Given the description of an element on the screen output the (x, y) to click on. 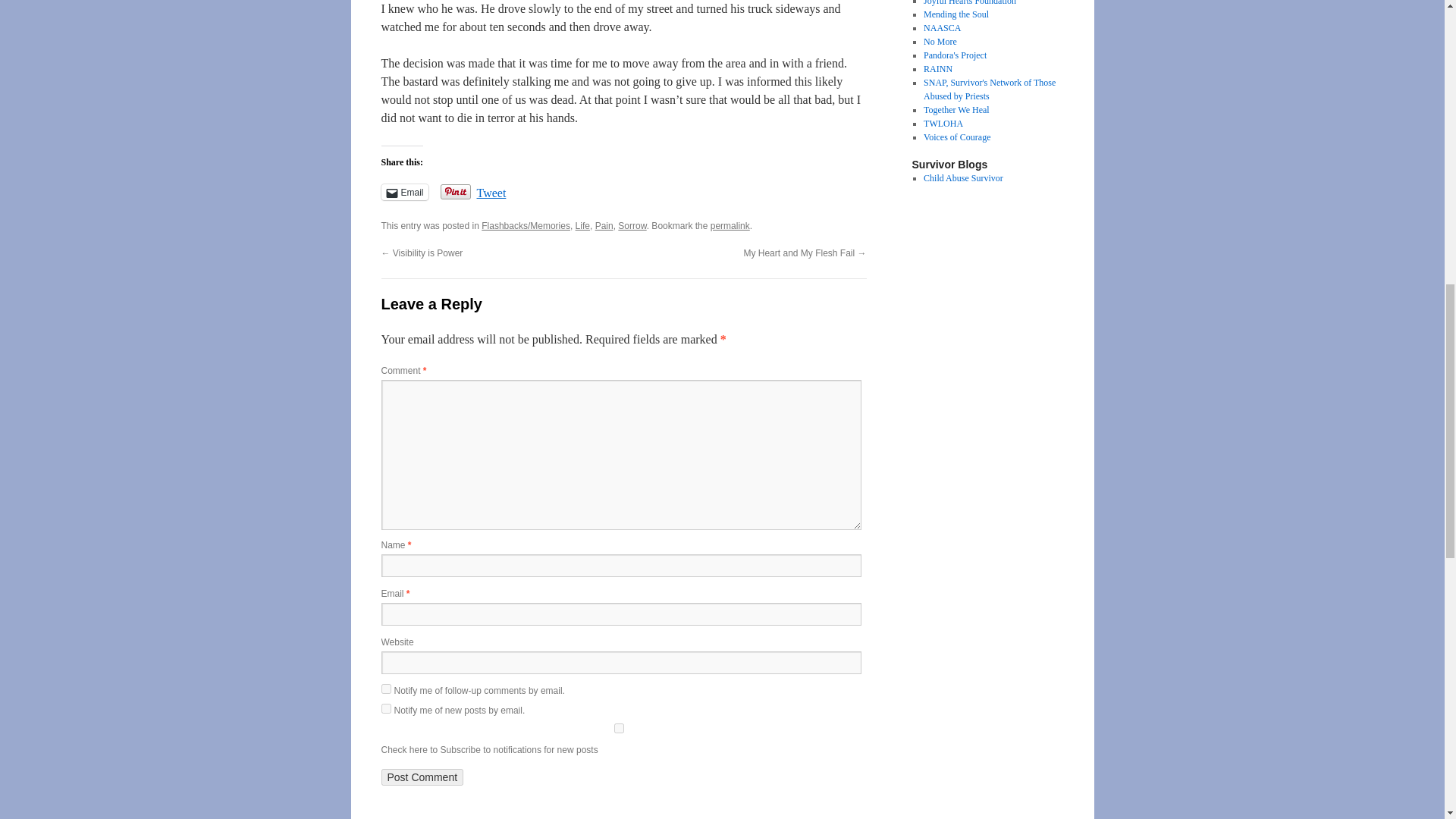
Sorrow (631, 225)
Tweet (491, 191)
Pain (603, 225)
Click to email a link to a friend (404, 191)
Permalink to Short History of Rapes (729, 225)
Life (582, 225)
RAINN (937, 68)
Email (404, 191)
Post Comment (421, 777)
subscribe (385, 688)
1 (618, 728)
No More (939, 41)
Post Comment (421, 777)
NAASCA (941, 27)
permalink (729, 225)
